Given the description of an element on the screen output the (x, y) to click on. 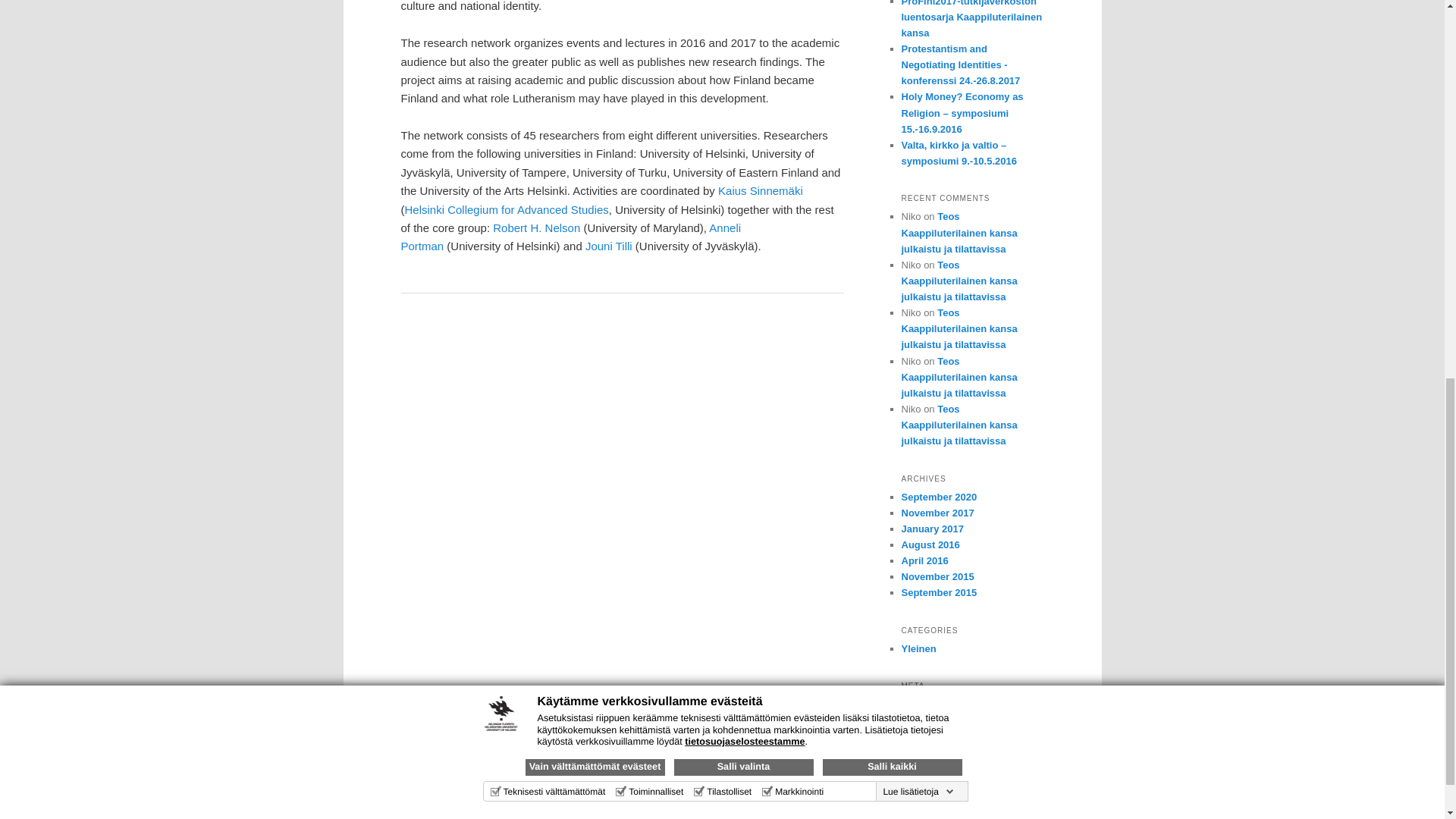
Salli kaikki (891, 26)
tietosuojaselosteestamme (744, 2)
Salli valinta (742, 26)
